Given the description of an element on the screen output the (x, y) to click on. 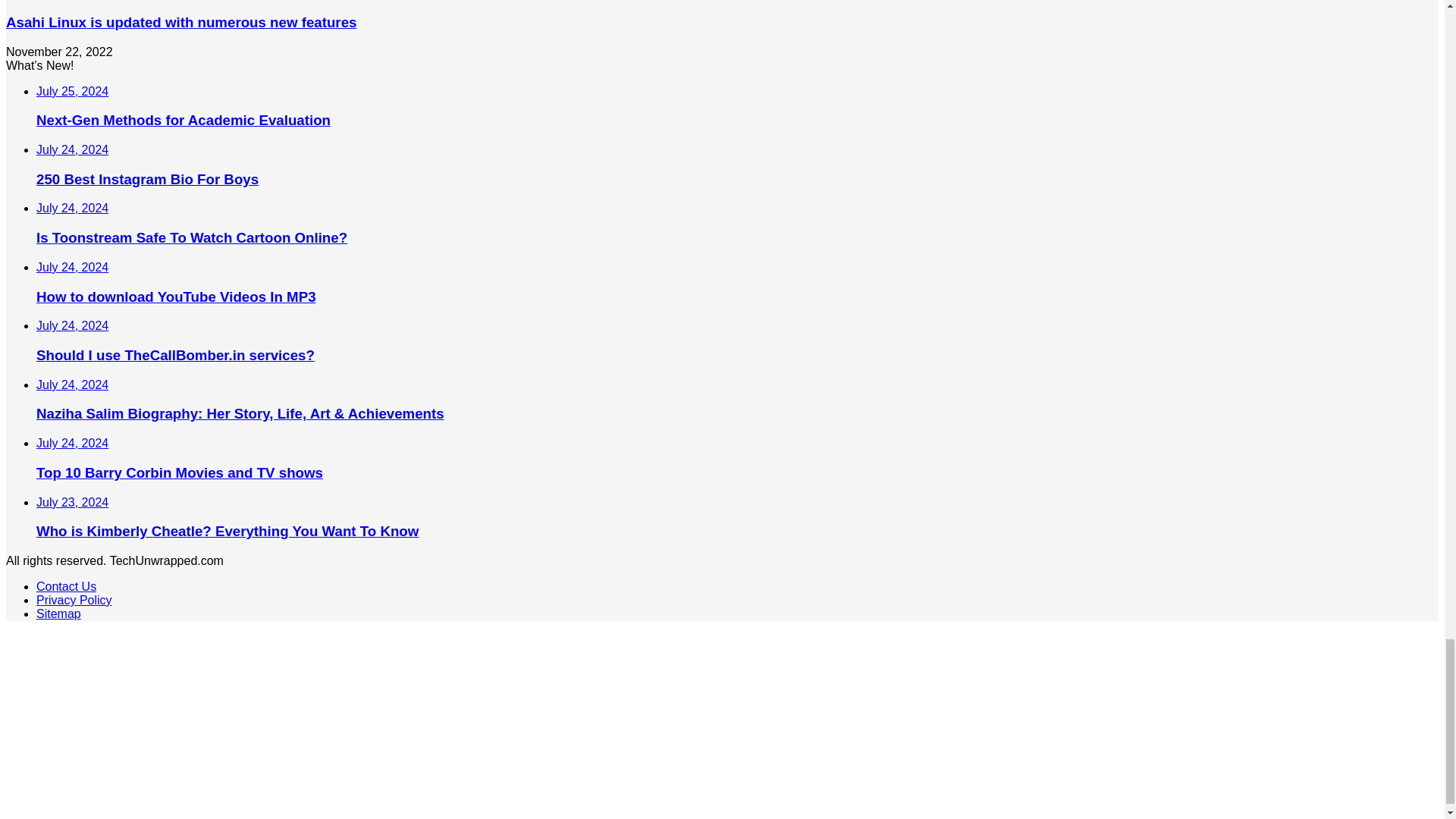
Contact Us (66, 585)
Sitemap (58, 613)
Asahi Linux is updated with numerous new features (180, 22)
Privacy Policy (74, 599)
